Given the description of an element on the screen output the (x, y) to click on. 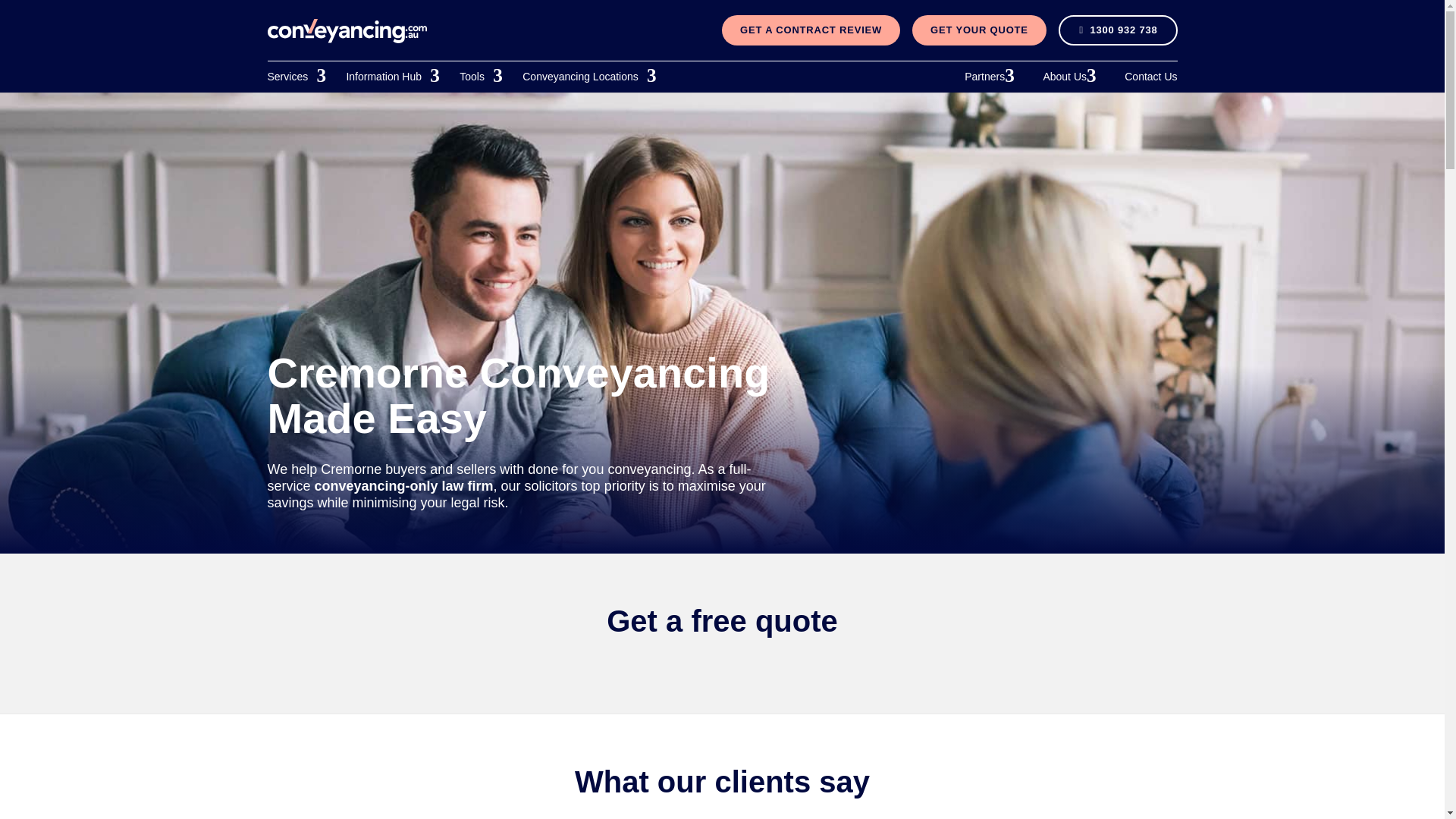
Conveyancing Locations (589, 77)
GET A CONTRACT REVIEW (810, 30)
Services (295, 77)
Information Hub (392, 77)
Tools (481, 77)
About Us (1072, 77)
GET YOUR QUOTE (979, 30)
1300 932 738 (1117, 30)
Partners (993, 77)
Contact Us (1150, 77)
